Given the description of an element on the screen output the (x, y) to click on. 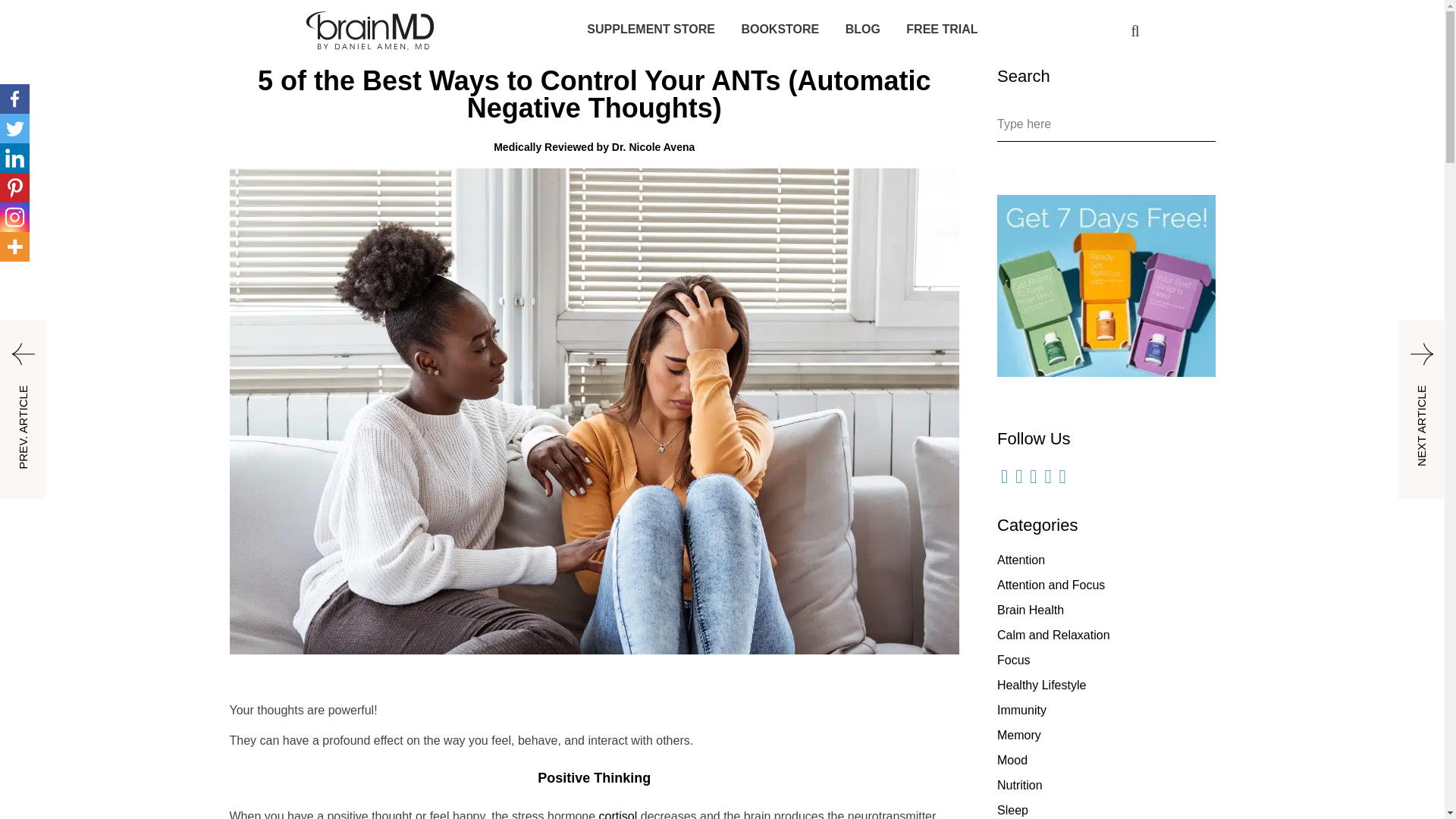
BOOKSTORE (779, 29)
Facebook (14, 98)
BLOG (862, 29)
SUPPLEMENT STORE (650, 29)
cortisol (617, 814)
Instagram (14, 216)
Pinterest (14, 187)
More (14, 246)
Twitter (14, 128)
FREE TRIAL (940, 29)
Linkedin (14, 157)
